Given the description of an element on the screen output the (x, y) to click on. 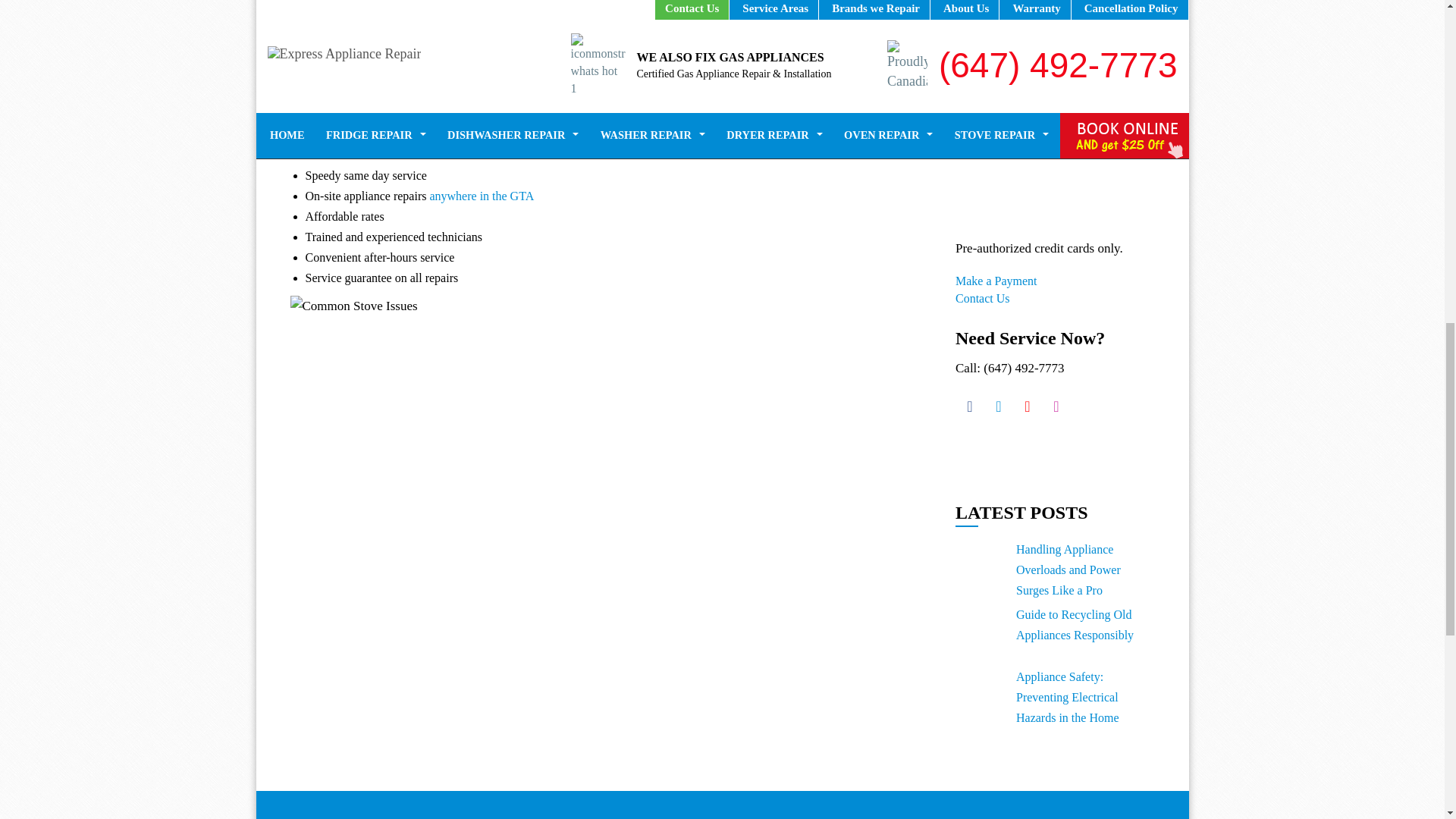
Terms of use (1027, 19)
Contact Us (982, 297)
Make a Payment (995, 280)
